Given the description of an element on the screen output the (x, y) to click on. 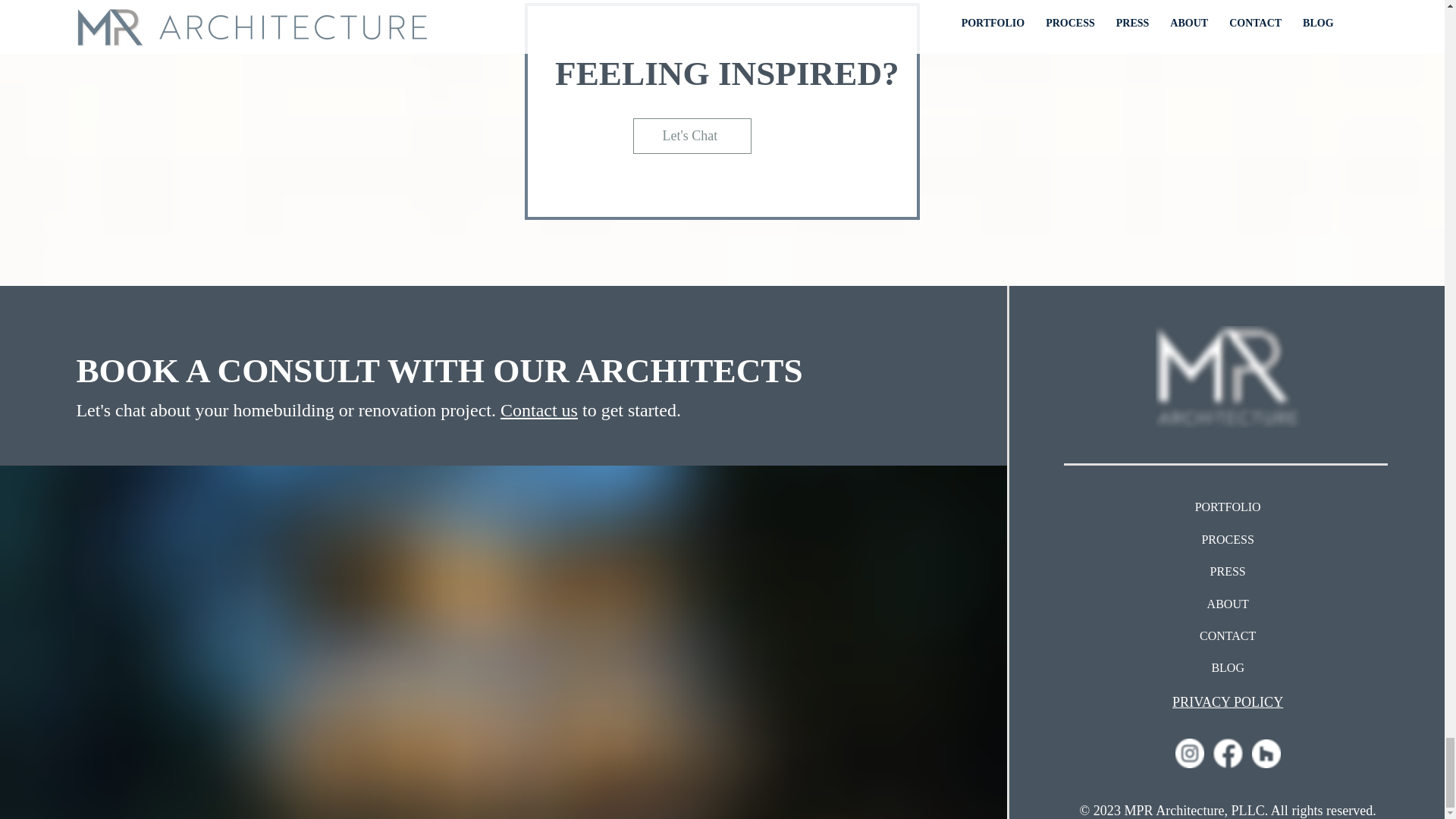
ABOUT (1227, 603)
Let's Chat (692, 135)
Contact us (539, 410)
PROCESS (1227, 540)
PORTFOLIO (1227, 507)
BLOG (1227, 667)
CONTACT (1227, 635)
PRESS (1227, 572)
PRIVACY POLICY (1227, 702)
